Given the description of an element on the screen output the (x, y) to click on. 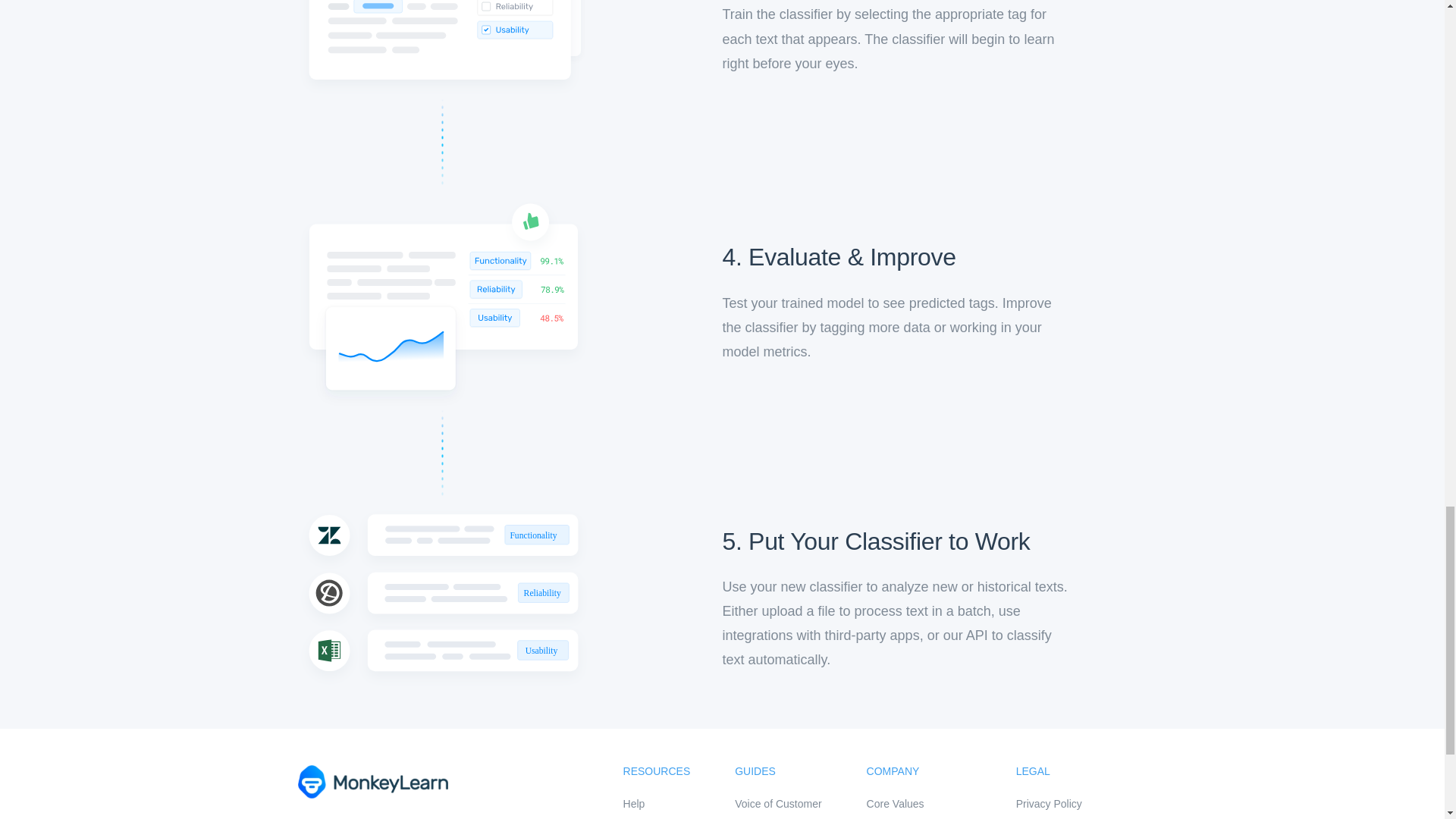
Data Cleaning (778, 816)
Help (656, 803)
Terms (1071, 816)
Voice of Customer (778, 803)
Core Values (918, 803)
Privacy Policy (1071, 803)
API Docs (656, 816)
